Given the description of an element on the screen output the (x, y) to click on. 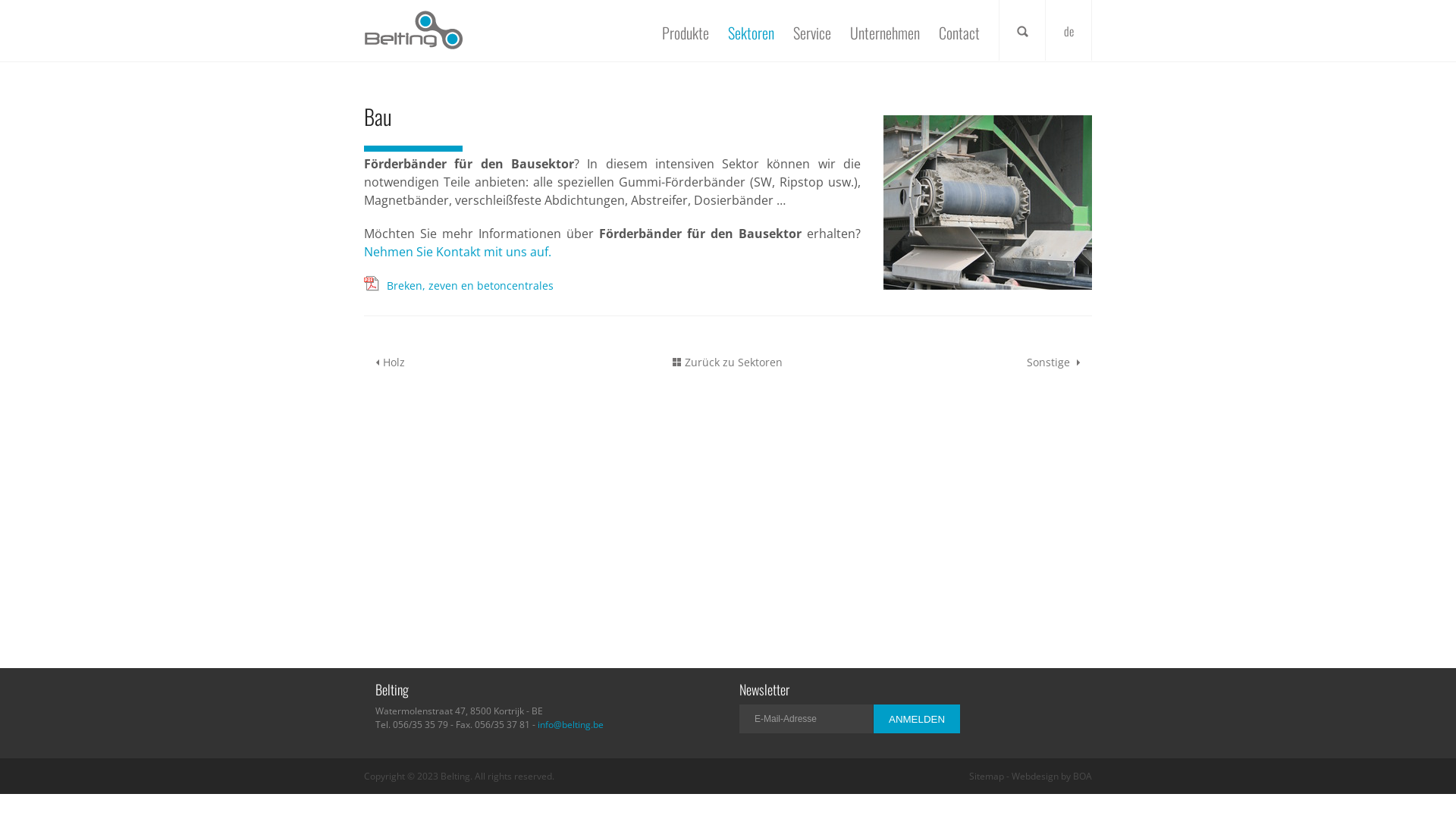
anmelden Element type: text (916, 718)
Contact Element type: text (958, 32)
Service Element type: text (812, 32)
Webdesign by BOA Element type: text (1051, 775)
Belting Element type: hover (413, 30)
Nehmen Sie Kontakt mit uns auf. Element type: text (457, 251)
info@belting.be Element type: text (570, 724)
Unternehmen Element type: text (884, 32)
Sonstige Element type: text (970, 361)
Breken, zeven en betoncentrales Element type: text (469, 285)
Sitemap Element type: text (986, 775)
Holz Element type: text (485, 361)
Produkte Element type: text (685, 32)
Sektoren Element type: text (751, 32)
